Given the description of an element on the screen output the (x, y) to click on. 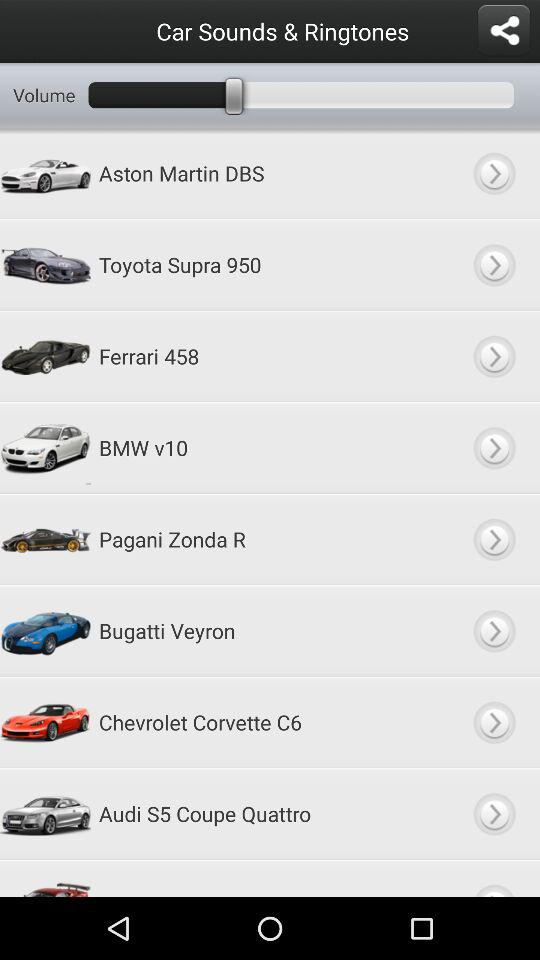
play the car sound of a bugatti veyron (494, 630)
